Given the description of an element on the screen output the (x, y) to click on. 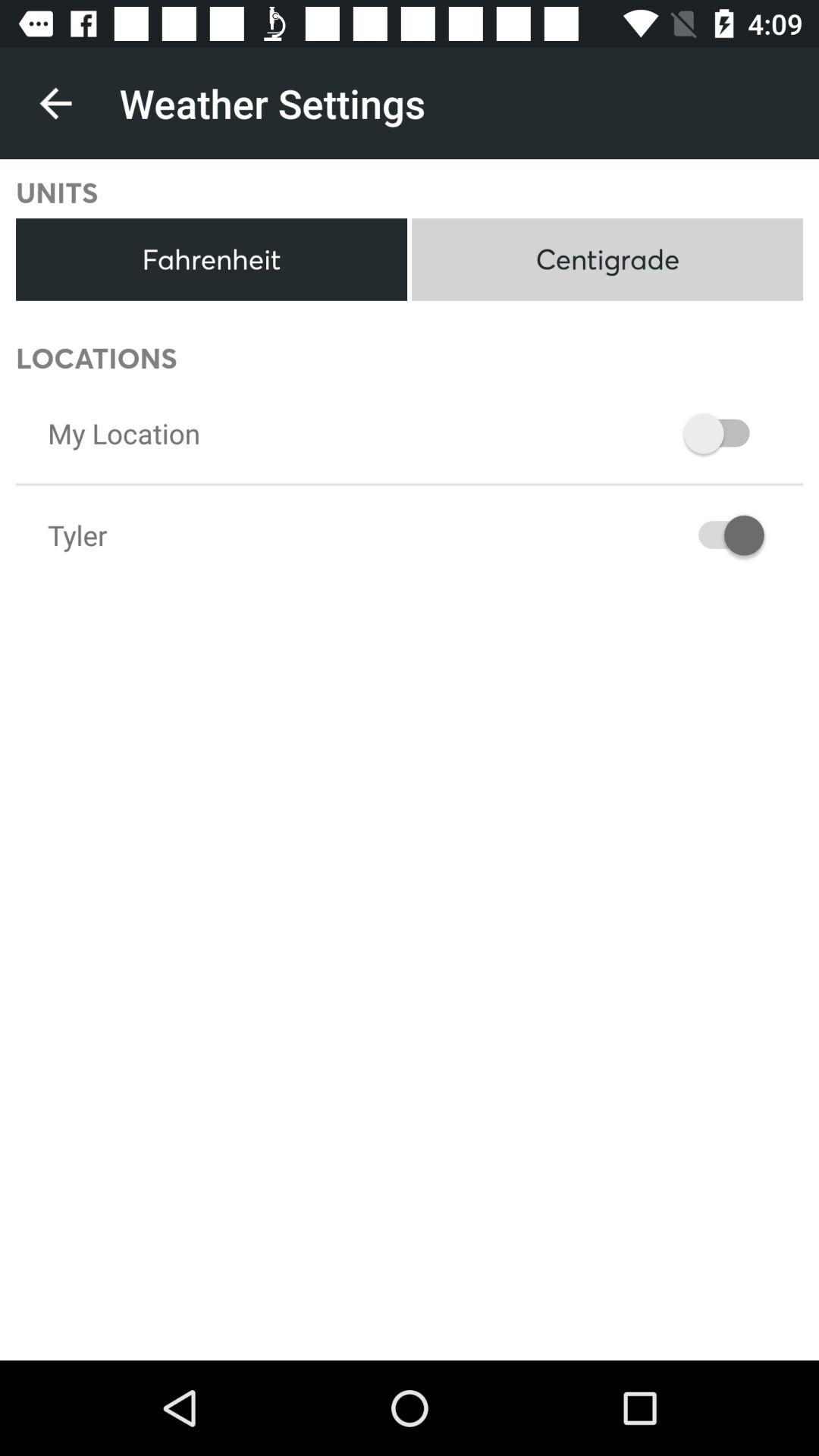
tap item above locations item (211, 259)
